Given the description of an element on the screen output the (x, y) to click on. 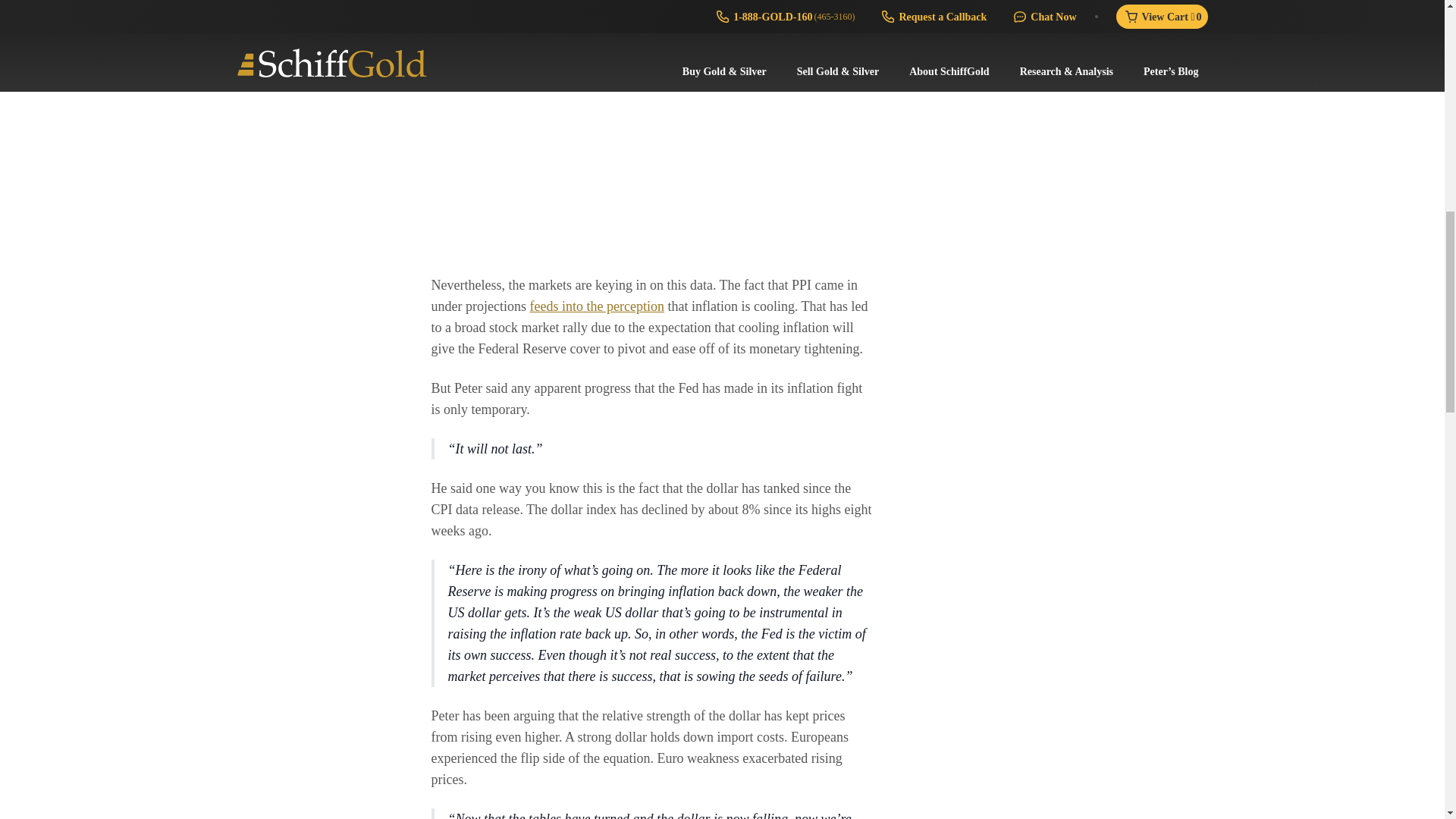
YouTube video player (652, 131)
feeds into the perception (596, 305)
